Given the description of an element on the screen output the (x, y) to click on. 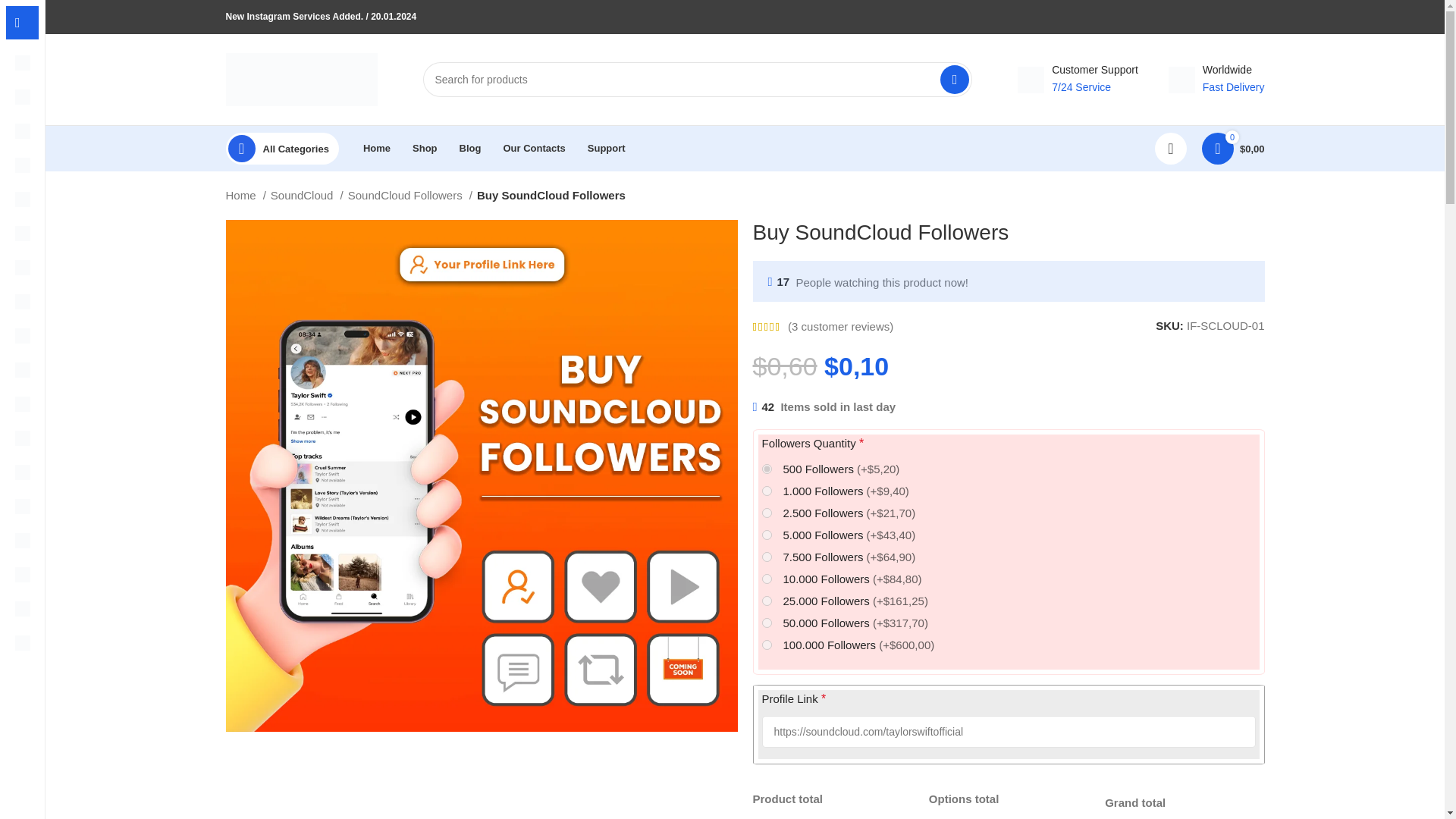
Search for products (697, 79)
nnhqv (766, 556)
Shopping cart (1232, 148)
skfgl (766, 578)
yk35x (766, 534)
6hkrm (766, 623)
g9vfu (766, 512)
My account (1170, 148)
x9qgq (766, 644)
2f0t3 (766, 601)
u15fe (766, 469)
ltht9 (766, 491)
